Given the description of an element on the screen output the (x, y) to click on. 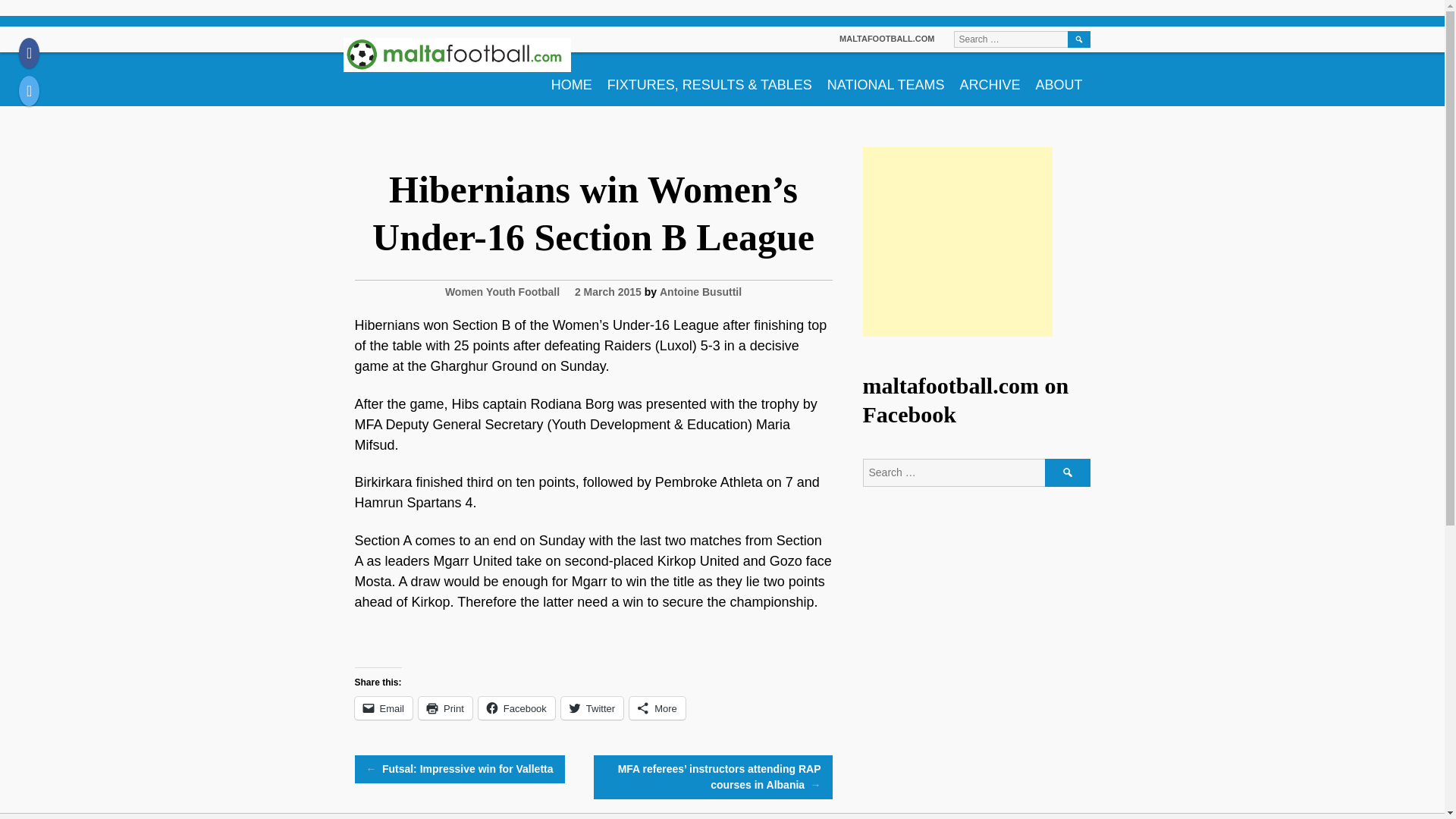
Click to email a link to a friend (384, 707)
Click to share on Twitter (591, 707)
Click to print (445, 707)
Search (1067, 472)
ARCHIVE (989, 79)
Click to share on Facebook (516, 707)
MALTAFOOTBALL.COM (887, 38)
NATIONAL TEAMS (885, 79)
HOME (571, 79)
Search (1078, 39)
